Given the description of an element on the screen output the (x, y) to click on. 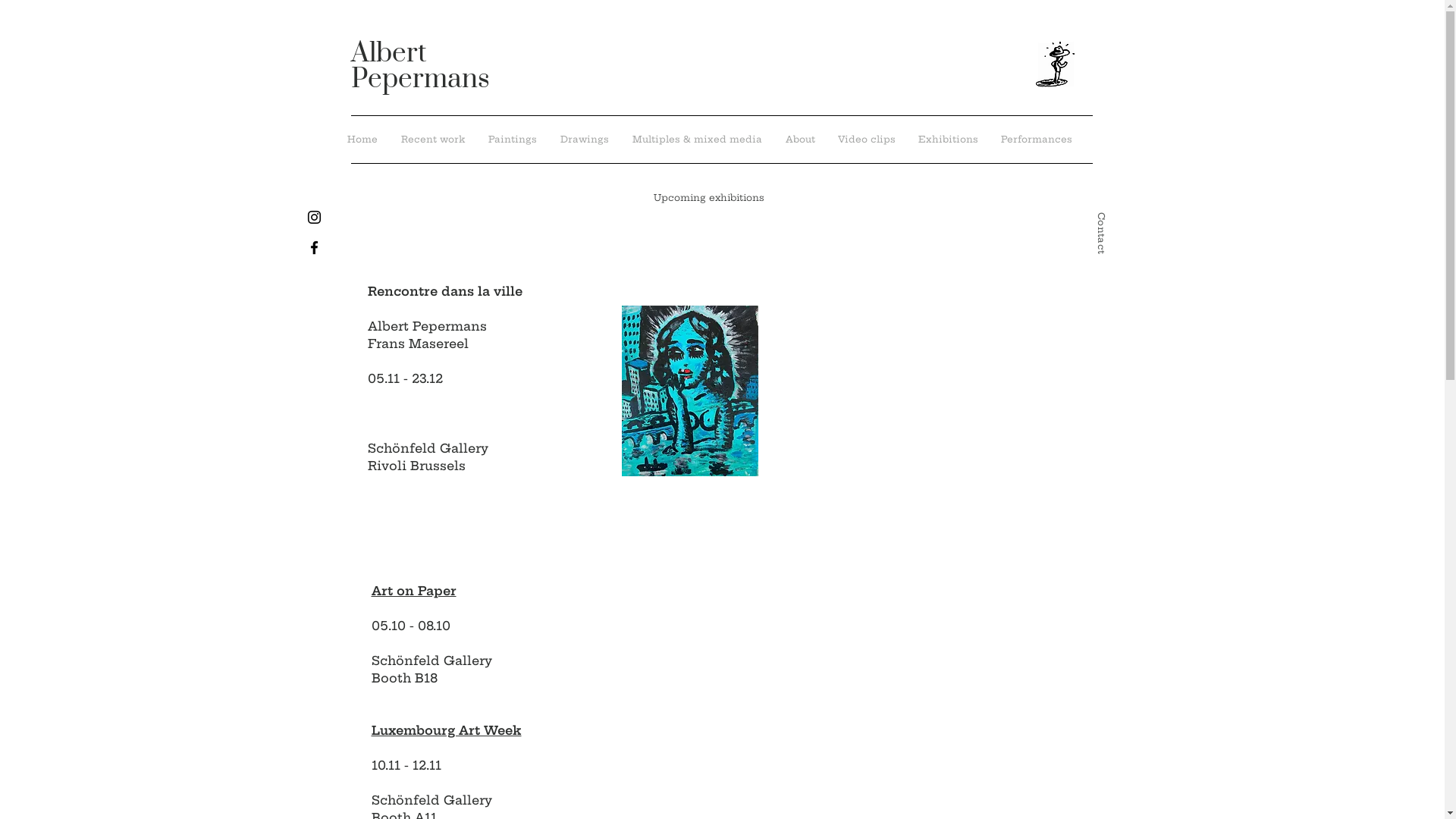
Luxembourg Art Week Element type: text (446, 730)
Rencontre dans la ville Element type: text (444, 290)
Home Element type: text (362, 139)
Paintings Element type: text (512, 139)
Albert Pepermans Element type: text (419, 66)
Contact Element type: text (1116, 217)
Performances Element type: text (1035, 139)
Recent work Element type: text (432, 139)
About Element type: text (799, 139)
Video clips Element type: text (866, 139)
Multiples & mixed media Element type: text (696, 139)
Art on Paper Element type: text (413, 590)
Drawings Element type: text (585, 139)
